Given the description of an element on the screen output the (x, y) to click on. 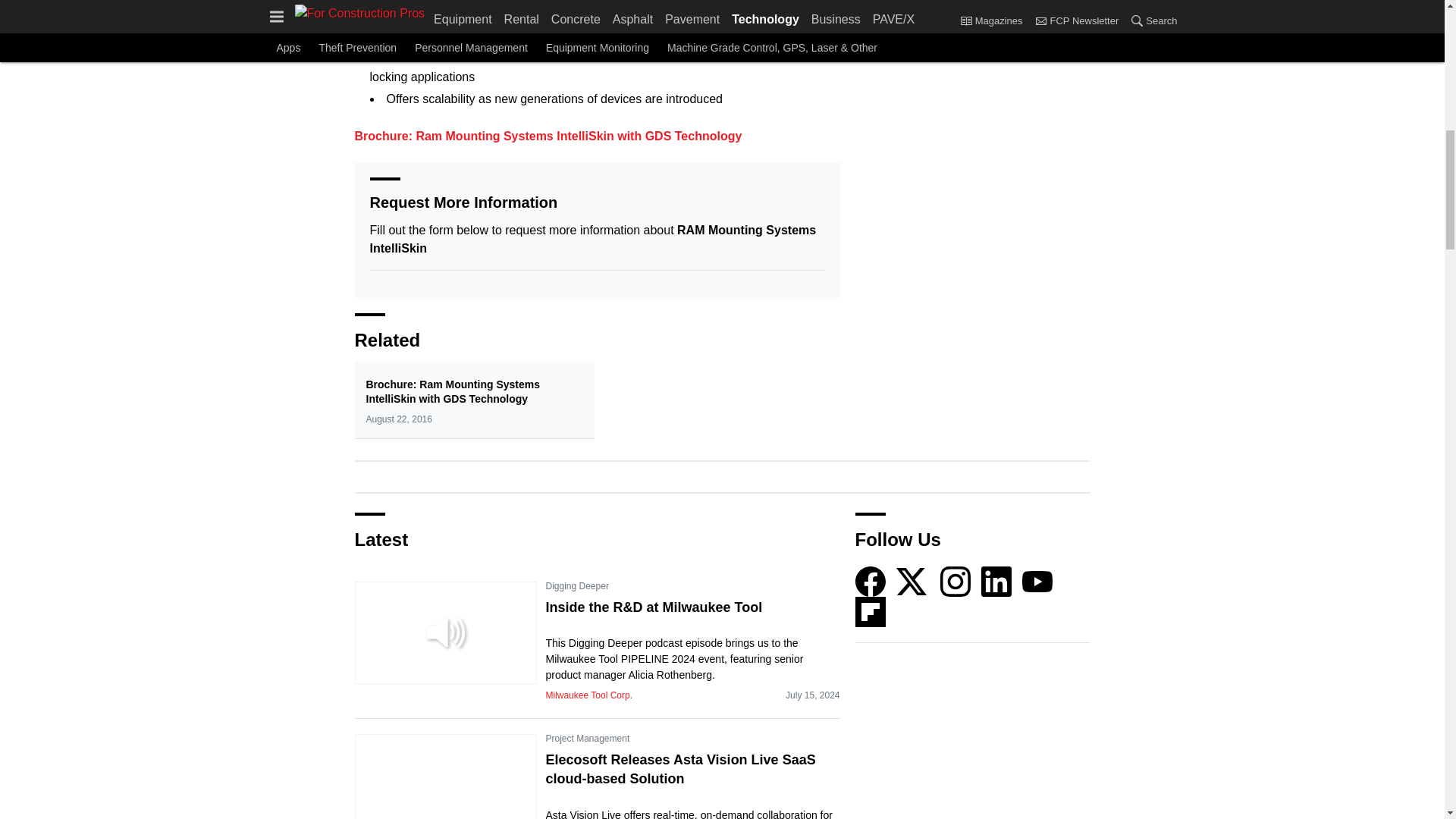
YouTube icon (1037, 581)
Twitter X icon (911, 581)
Flipboard icon (870, 612)
LinkedIn icon (996, 581)
Instagram icon (955, 581)
Facebook icon (870, 581)
